Given the description of an element on the screen output the (x, y) to click on. 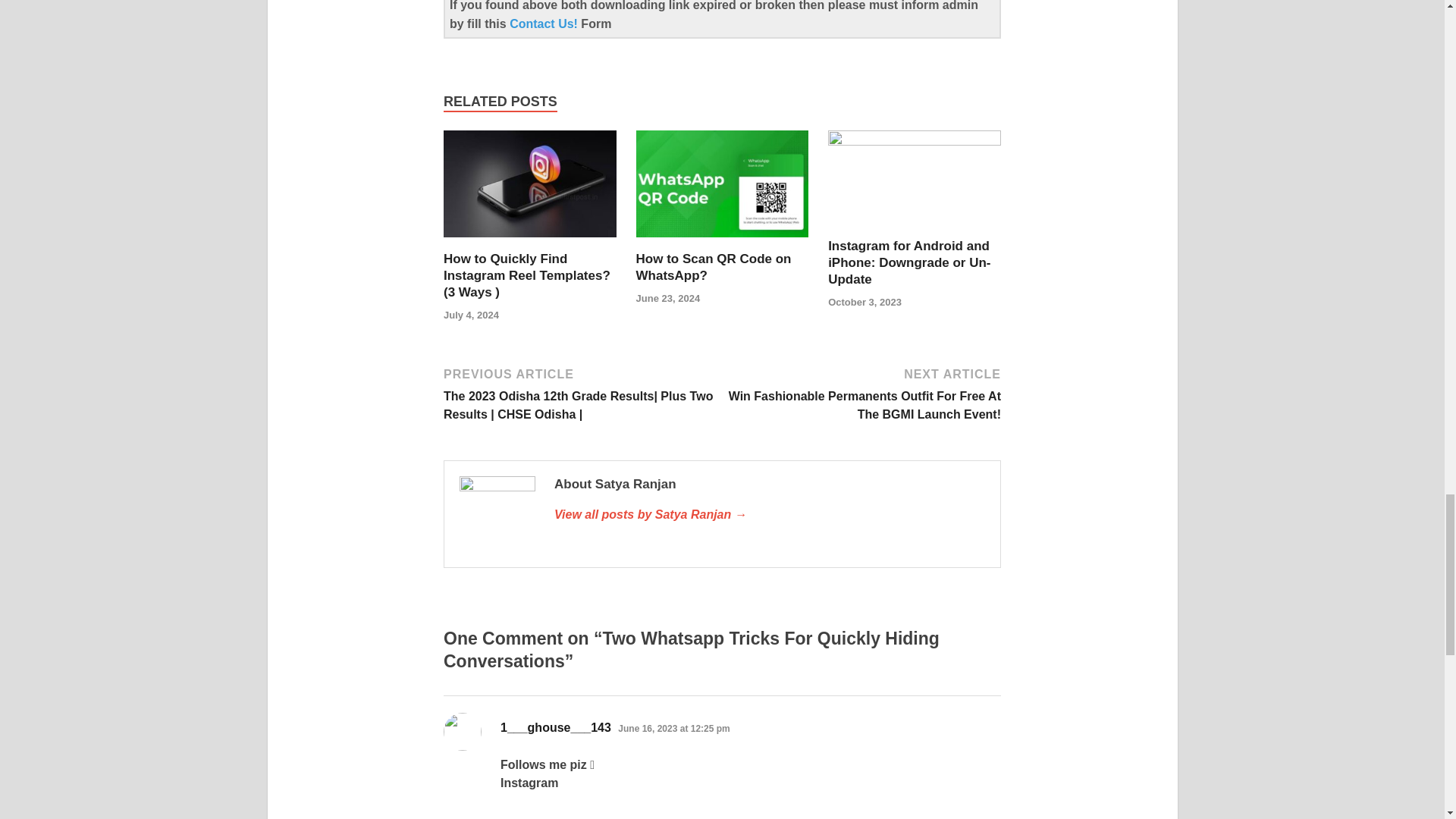
Instagram for Android and iPhone: Downgrade or Un-Update (909, 262)
How to Scan QR Code on WhatsApp? (714, 266)
Satya Ranjan (769, 515)
Instagram for Android and iPhone: Downgrade or Un-Update (909, 262)
Instagram for Android and iPhone: Downgrade or Un-Update (914, 141)
Contact Us! (544, 23)
How to Scan QR Code on WhatsApp? (722, 241)
How to Scan QR Code on WhatsApp? (714, 266)
June 16, 2023 at 12:25 pm (673, 728)
